Given the description of an element on the screen output the (x, y) to click on. 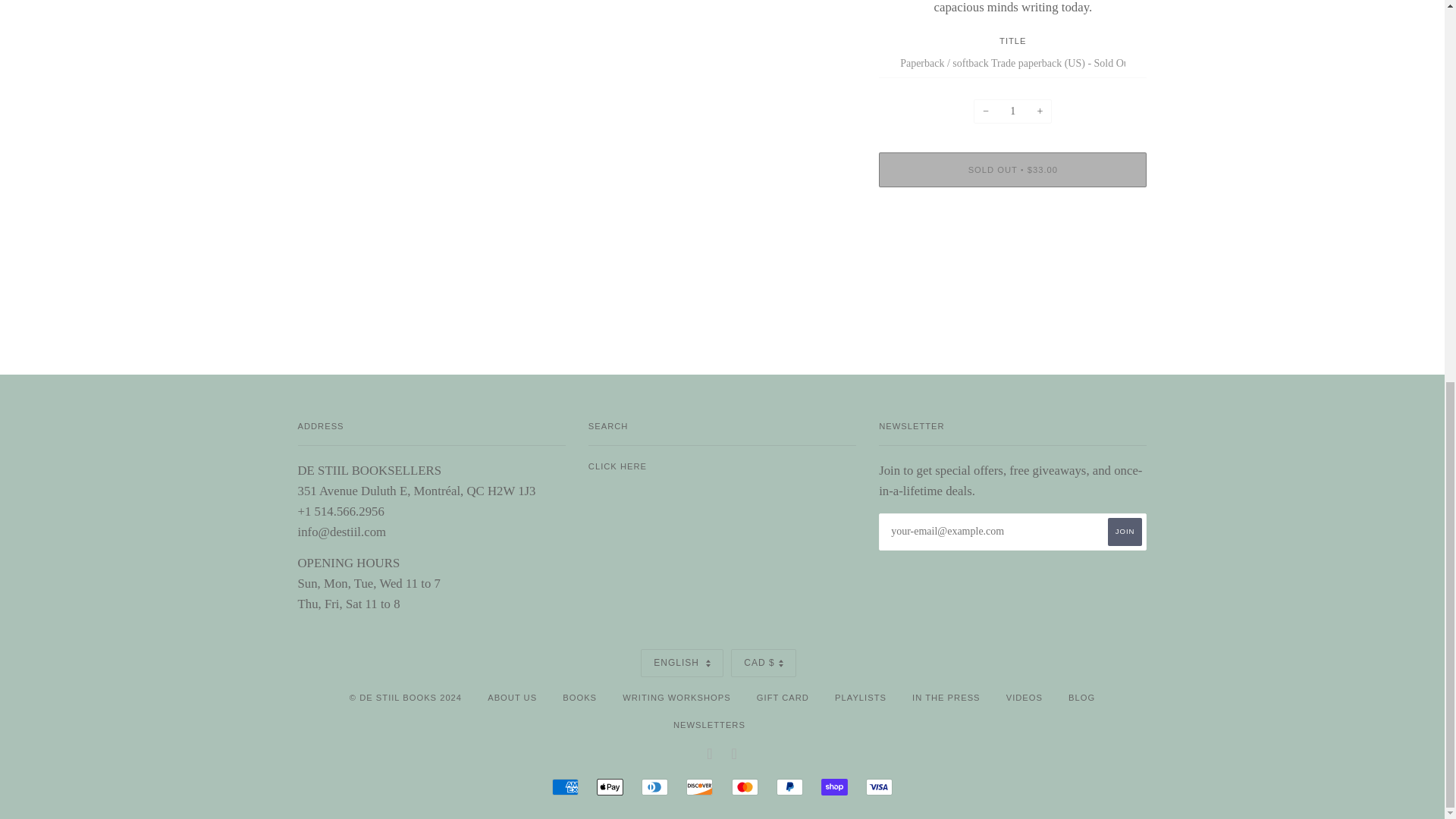
CLICK HERE (617, 465)
MASTERCARD (745, 786)
APPLE PAY (609, 786)
Join (1125, 531)
VISA (879, 786)
Join (1125, 531)
AMERICAN EXPRESS (564, 786)
SHOP PAY (834, 786)
1 (1012, 111)
DINERS CLUB (655, 786)
